Given the description of an element on the screen output the (x, y) to click on. 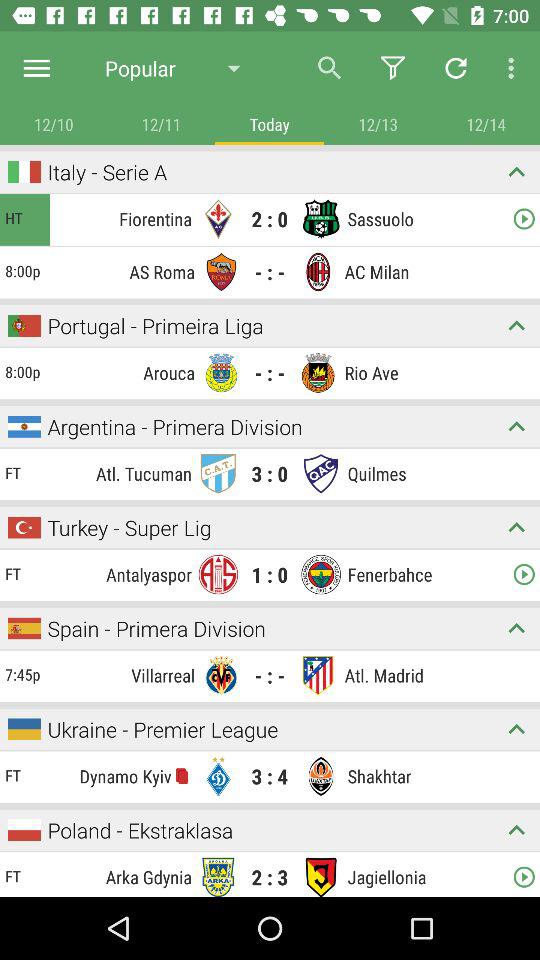
expand on topic (516, 426)
